Given the description of an element on the screen output the (x, y) to click on. 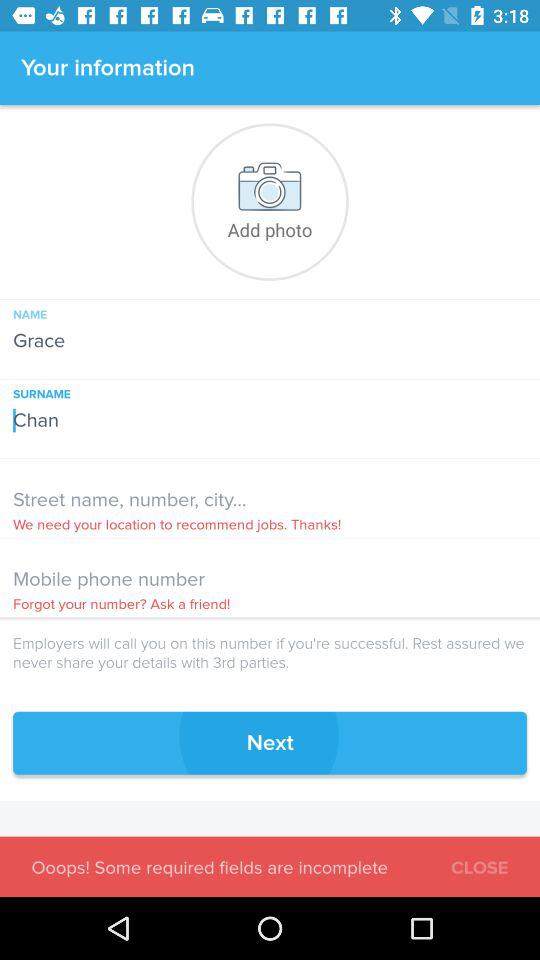
flip until chan item (269, 414)
